Given the description of an element on the screen output the (x, y) to click on. 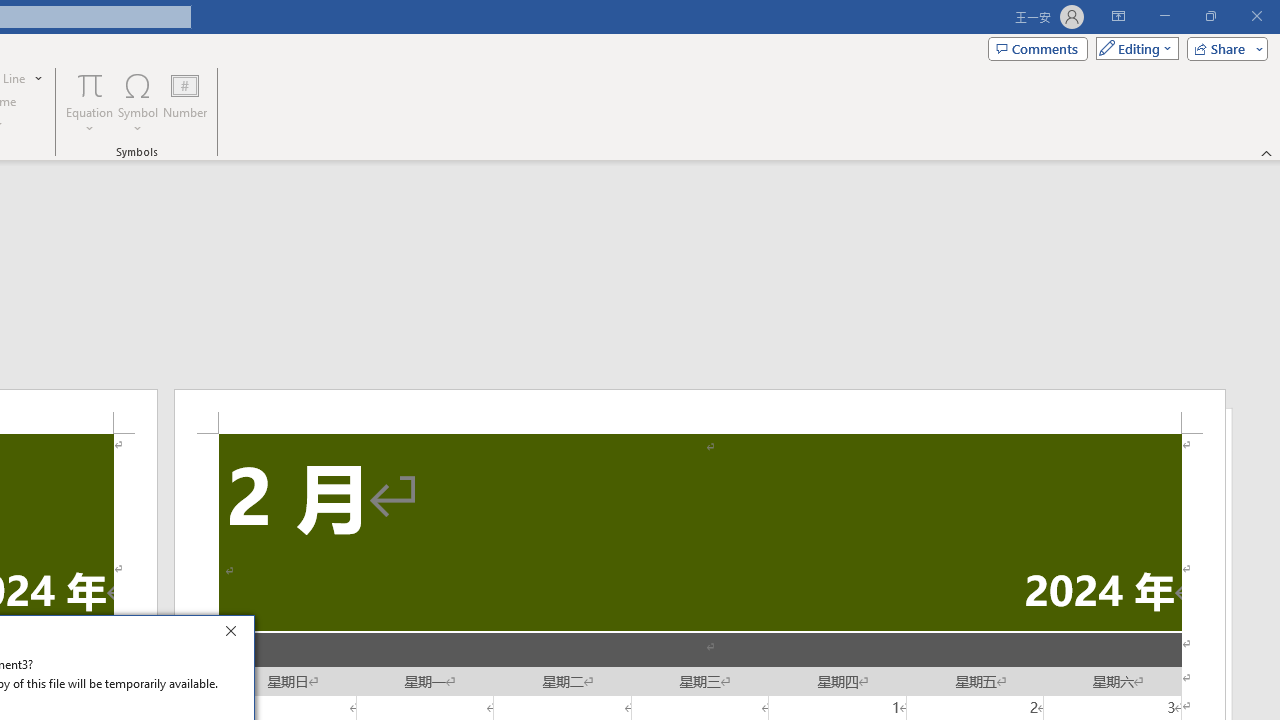
Share (1223, 48)
